Given the description of an element on the screen output the (x, y) to click on. 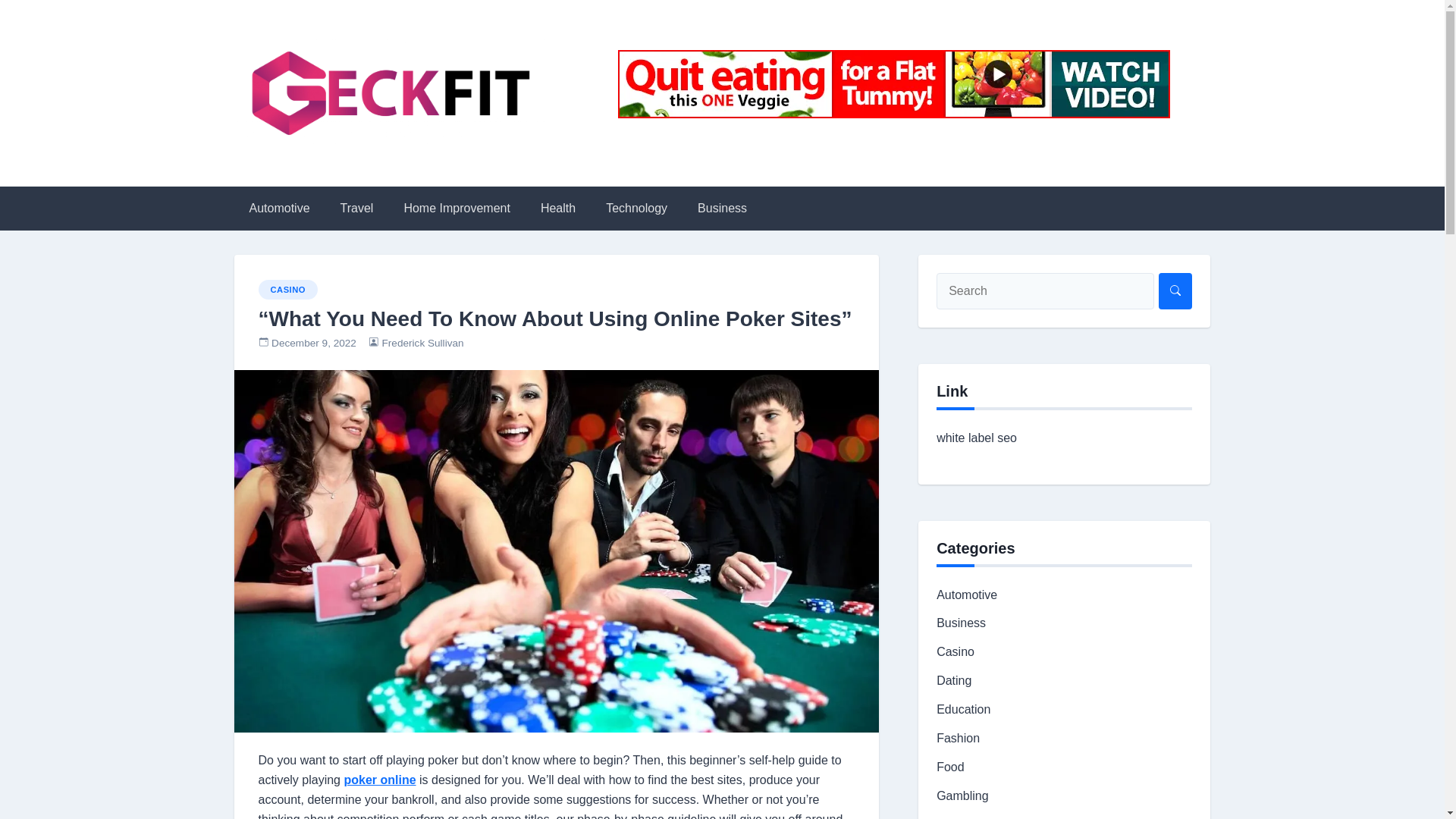
Education (963, 708)
Gambling (962, 795)
Automotive (966, 594)
Technology (636, 208)
Fashion (957, 738)
Home Improvement (456, 208)
Casino (955, 651)
Food (949, 766)
December 9, 2022 (313, 342)
